Given the description of an element on the screen output the (x, y) to click on. 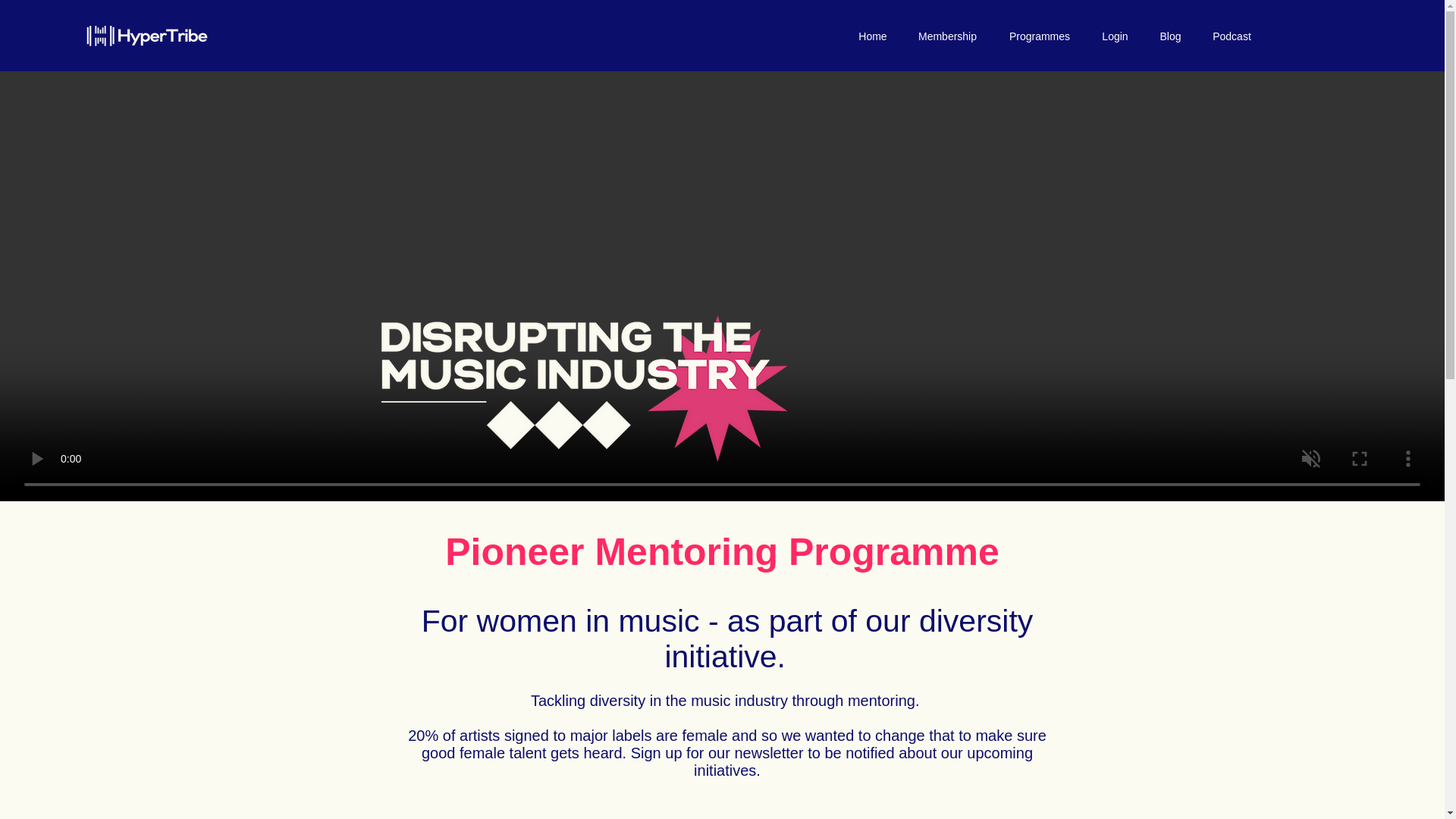
Membership (946, 36)
Home (872, 36)
Blog (1170, 36)
Login (1115, 36)
Podcast (1231, 36)
